Given the description of an element on the screen output the (x, y) to click on. 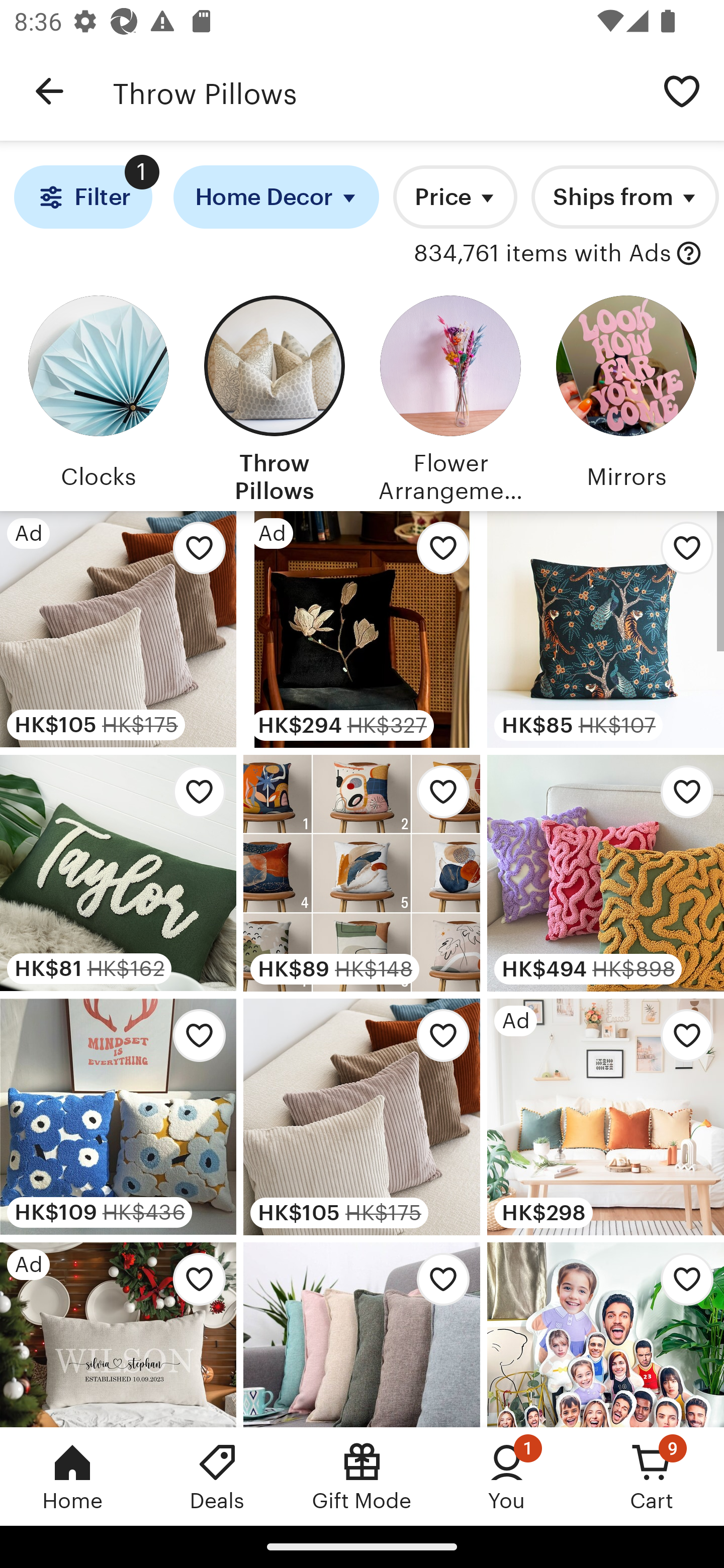
Navigate up (49, 91)
Save search (681, 90)
Throw Pillows (375, 91)
Filter (82, 197)
Home Decor (276, 197)
Price (455, 197)
Ships from (624, 197)
834,761 items with Ads (542, 253)
with Ads (688, 253)
Clocks (97, 395)
Throw Pillows (273, 395)
Flower Arrangements (449, 395)
Mirrors (625, 395)
Deals (216, 1475)
Gift Mode (361, 1475)
You, 1 new notification You (506, 1475)
Cart, 9 new notifications Cart (651, 1475)
